Given the description of an element on the screen output the (x, y) to click on. 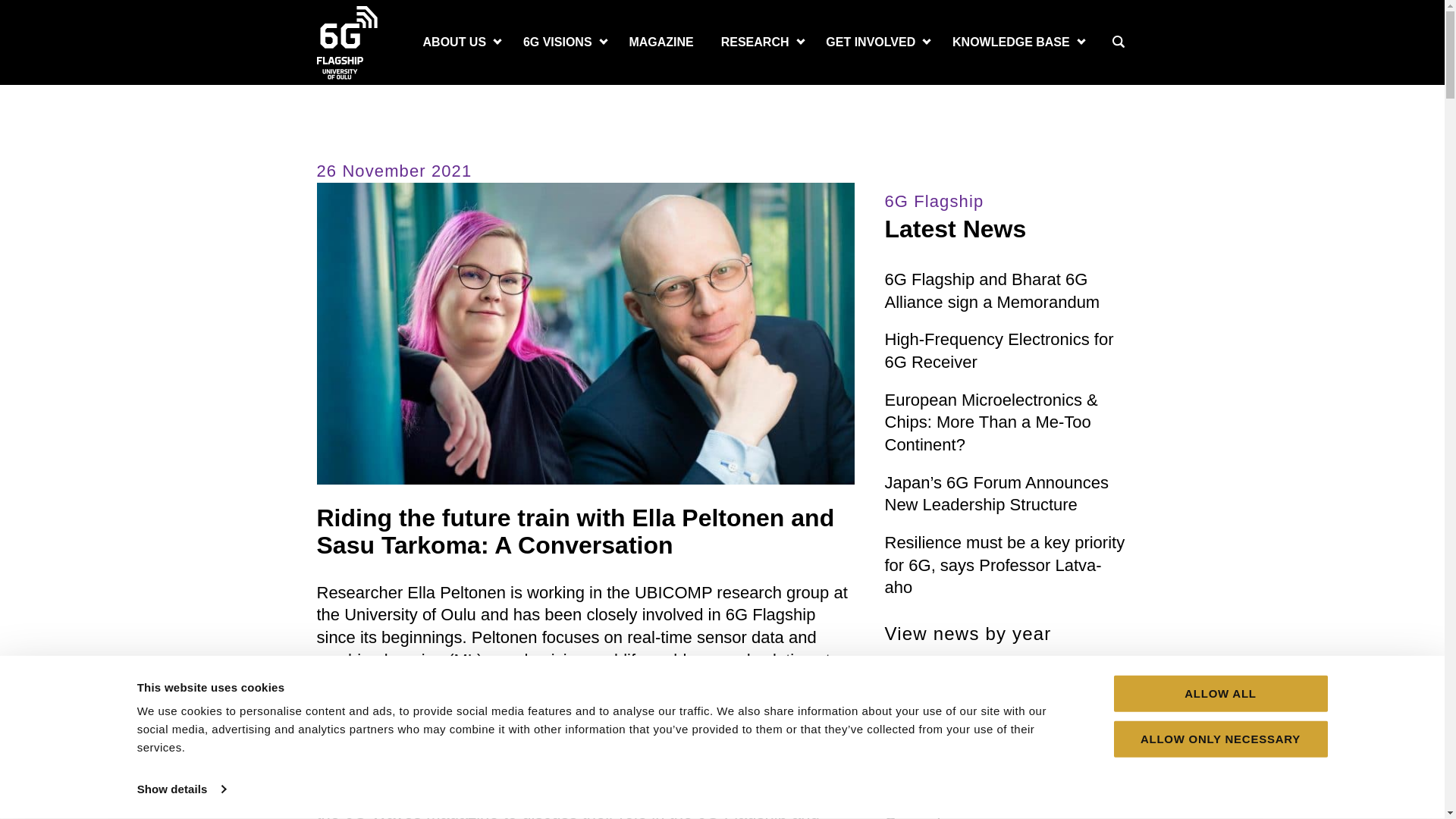
ALLOW ALL (1219, 693)
Show details (180, 789)
ALLOW ONLY NECESSARY (1219, 738)
